Given the description of an element on the screen output the (x, y) to click on. 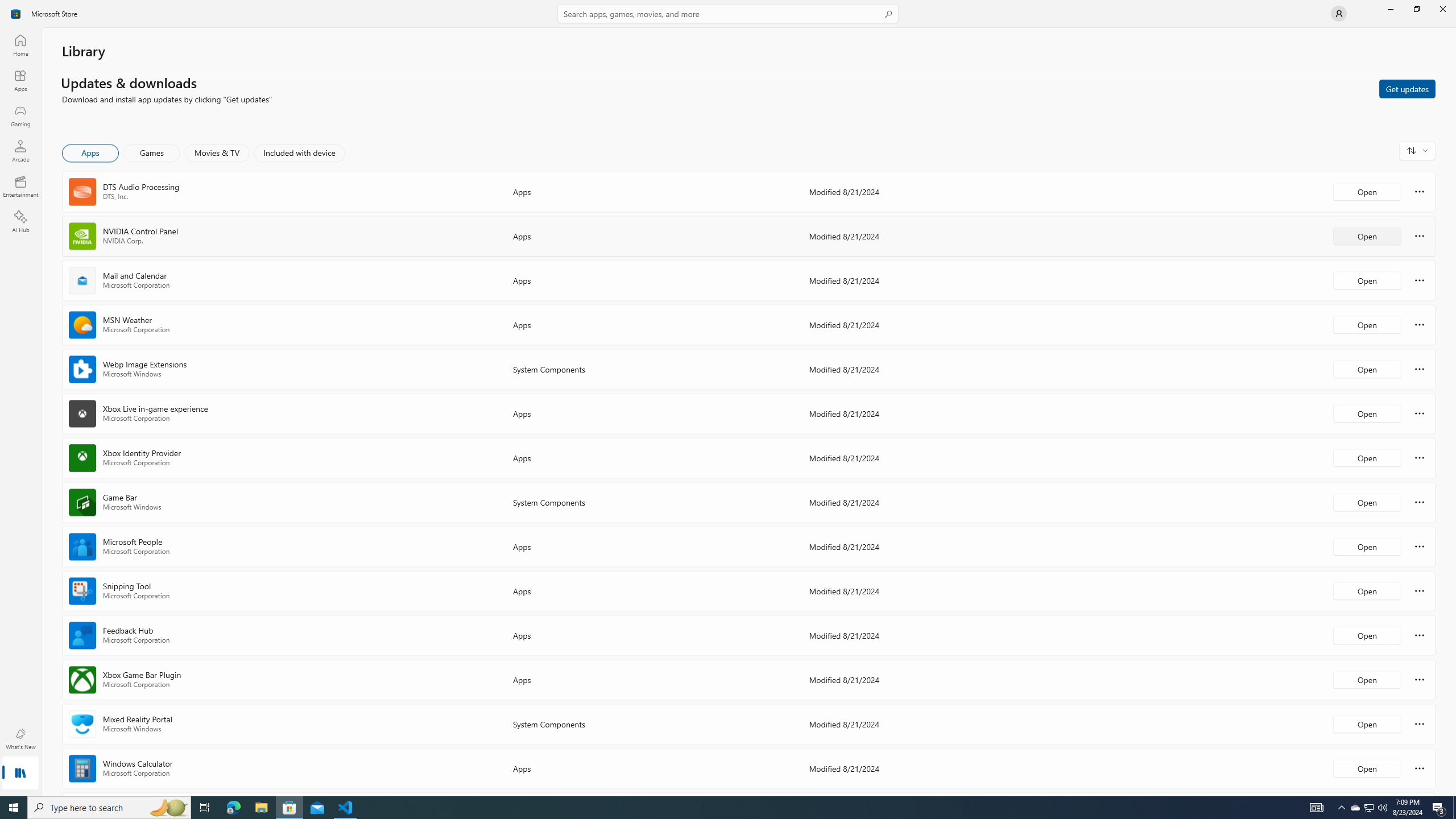
Open (1366, 768)
Search (727, 13)
Get updates (1406, 88)
Sort and filter (1417, 149)
Games (151, 153)
Included with device (299, 153)
